Given the description of an element on the screen output the (x, y) to click on. 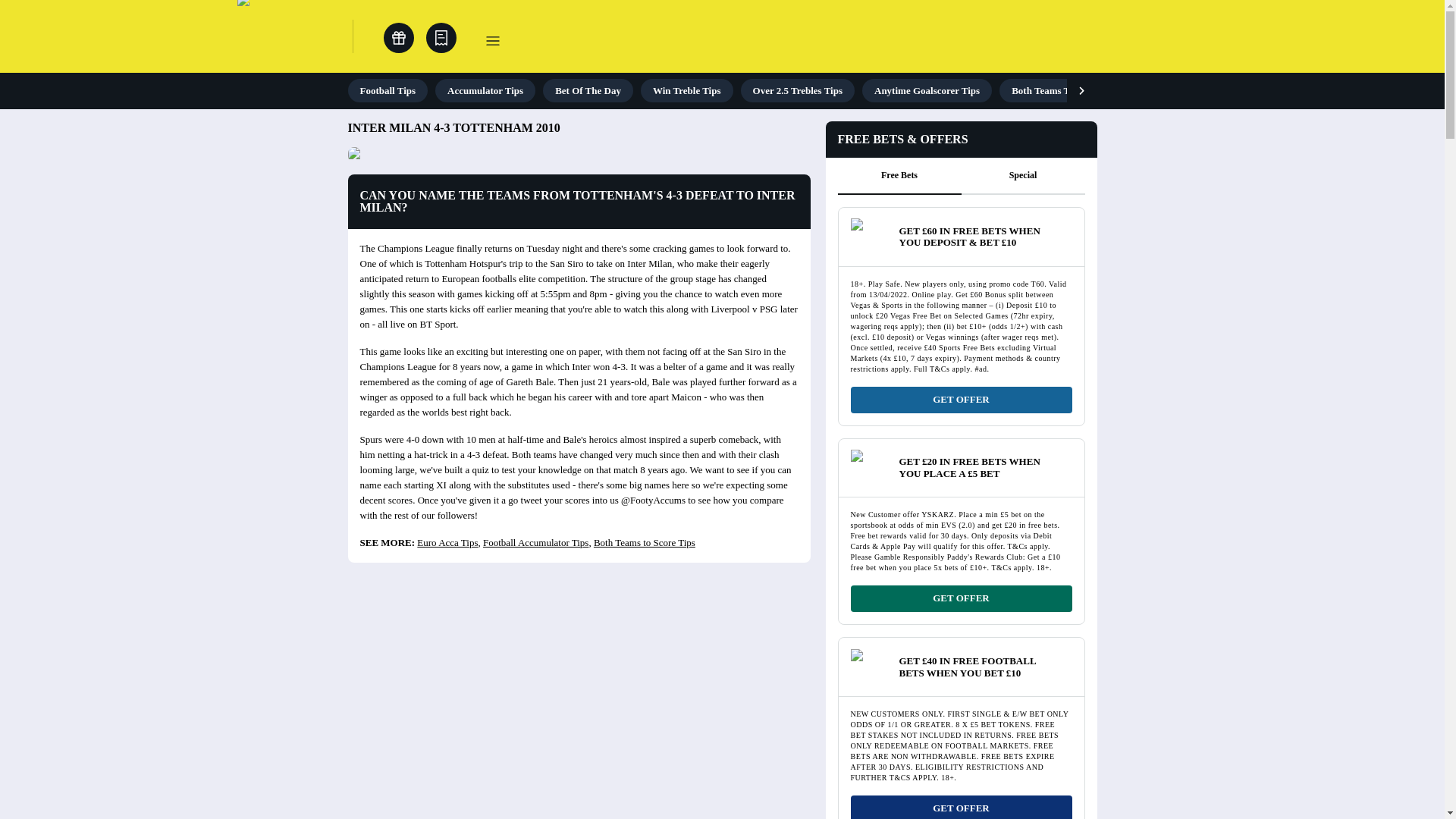
Open bet slip (441, 37)
Football Accumulator Tips (535, 542)
Anytime Goalscorer Tips (926, 90)
Win Treble Tips (686, 90)
Both Teams To Score Tips (1065, 90)
Sky Bet BuildABet Tips (1324, 90)
Both Teams to Score Tips (644, 542)
Football Tips (387, 90)
